Given the description of an element on the screen output the (x, y) to click on. 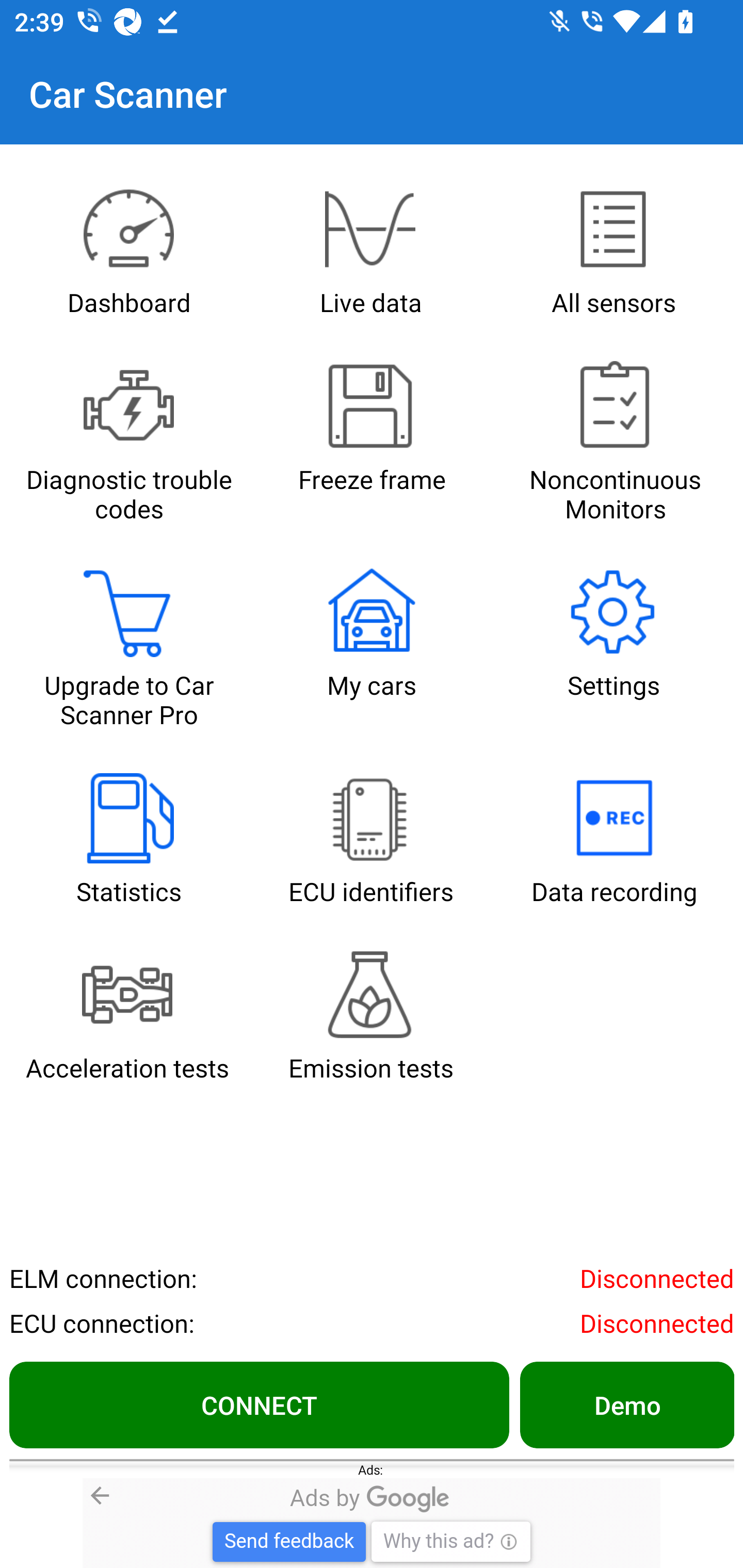
CONNECT (258, 1404)
Demo (627, 1404)
